Given the description of an element on the screen output the (x, y) to click on. 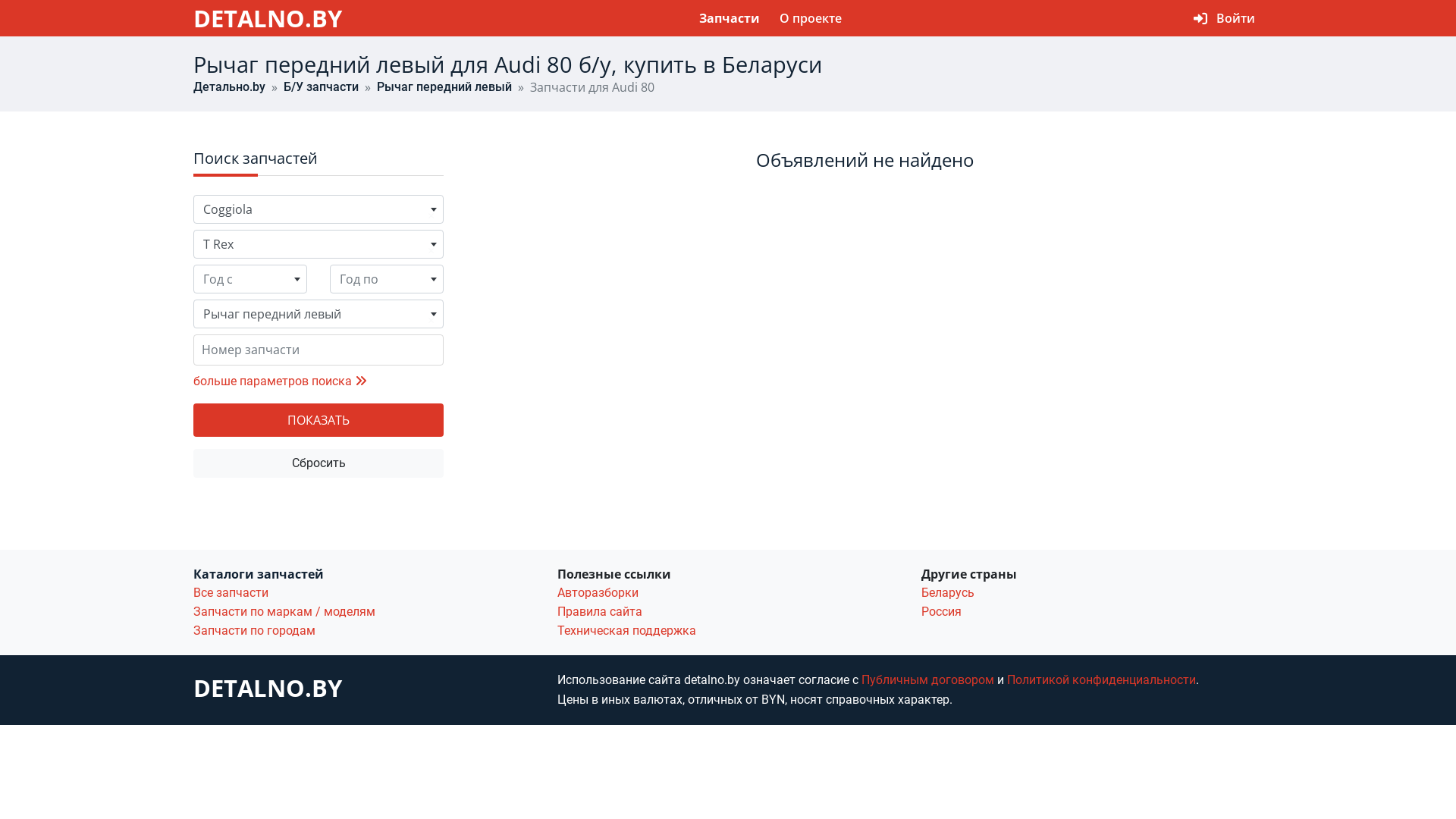
DETALNO.BY Element type: text (267, 17)
